Given the description of an element on the screen output the (x, y) to click on. 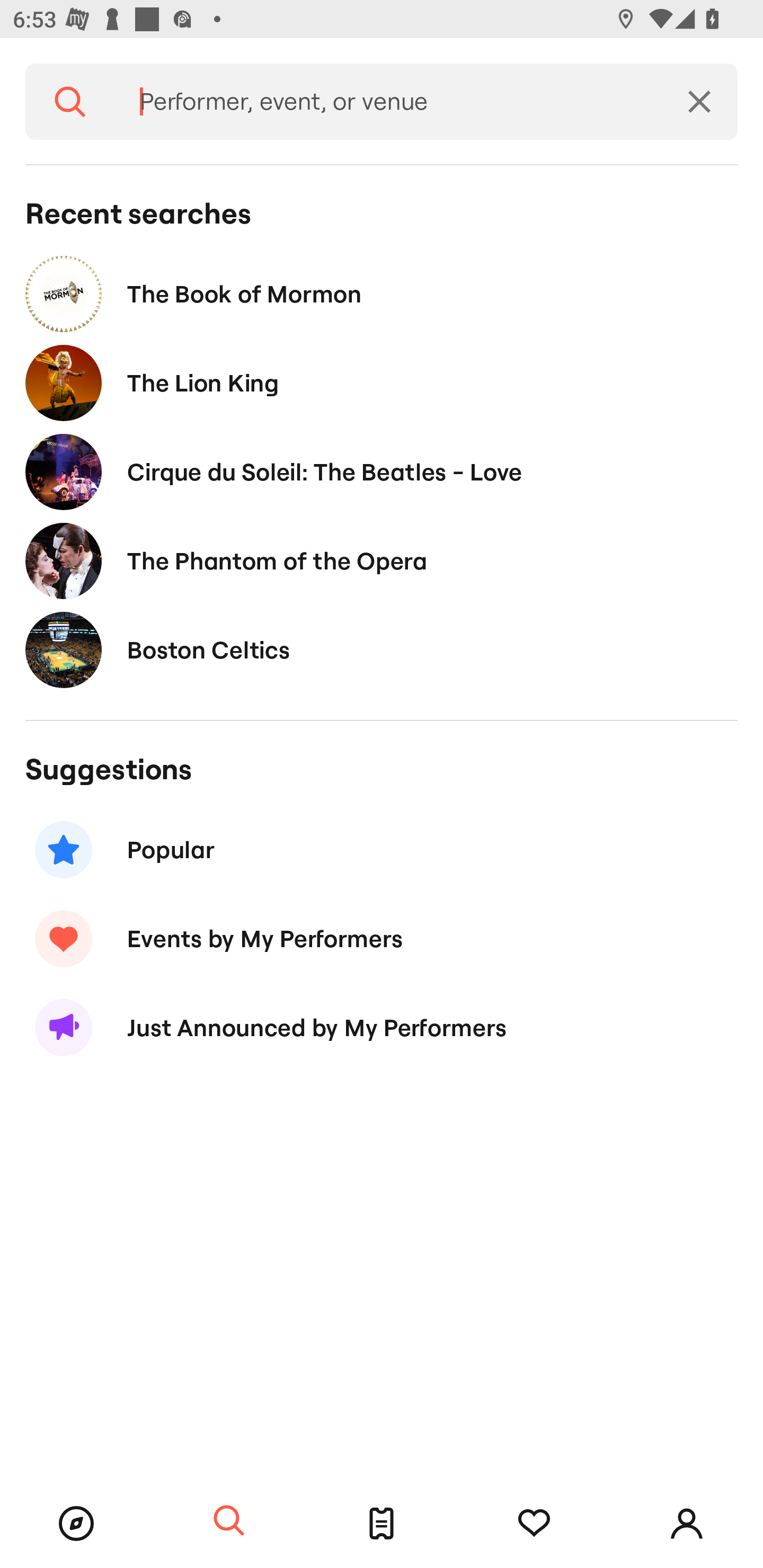
Search (69, 101)
Performer, event, or venue (387, 101)
Clear (699, 101)
The Book of Mormon (381, 293)
The Lion King (381, 383)
Cirque du Soleil: The Beatles - Love (381, 471)
The Phantom of the Opera (381, 560)
Boston Celtics (381, 649)
Popular (381, 849)
Events by My Performers (381, 938)
Just Announced by My Performers (381, 1027)
Browse (76, 1523)
Search (228, 1521)
Tickets (381, 1523)
Tracking (533, 1523)
Account (686, 1523)
